Given the description of an element on the screen output the (x, y) to click on. 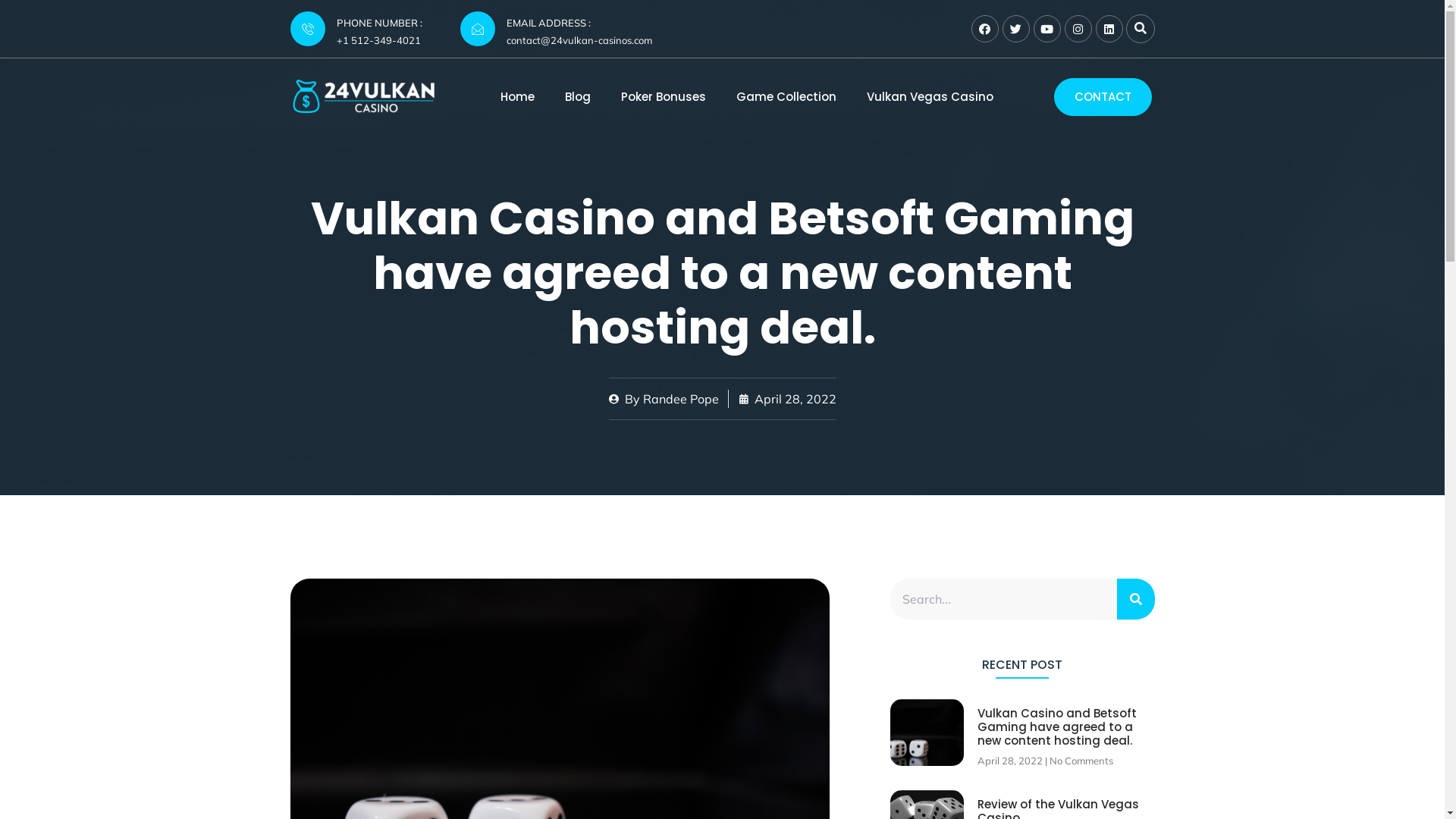
Poker Bonuses Element type: text (663, 96)
April 28, 2022 Element type: text (787, 398)
Search Element type: hover (1135, 598)
Search Element type: hover (1003, 598)
Blog Element type: text (577, 96)
Home Element type: text (517, 96)
CONTACT Element type: text (1102, 97)
By Randee Pope Element type: text (663, 398)
Vulkan Vegas Casino Element type: text (929, 96)
Game Collection Element type: text (786, 96)
